Given the description of an element on the screen output the (x, y) to click on. 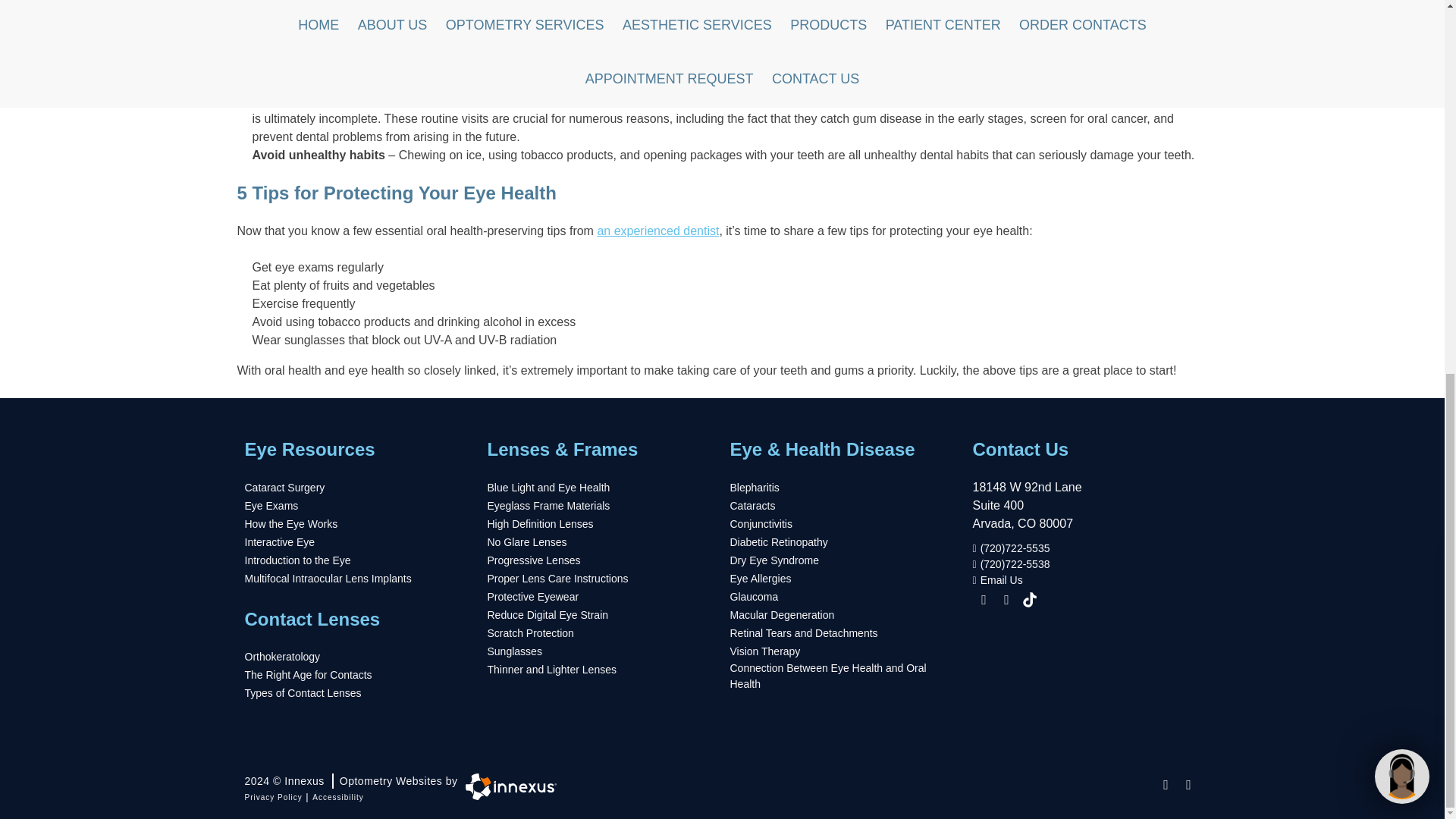
Multifocal Intraocular Lens Implants (327, 578)
The Right Age for Contacts (307, 675)
Interactive Eye (279, 542)
Eye Exams (271, 505)
Blue Light and Eye Health (548, 487)
six-month dental checkups and cleanings (1088, 100)
Introduction to the Eye (297, 560)
Types of Contact Lenses (302, 693)
Cataract Surgery (284, 487)
Innexus (507, 786)
